Given the description of an element on the screen output the (x, y) to click on. 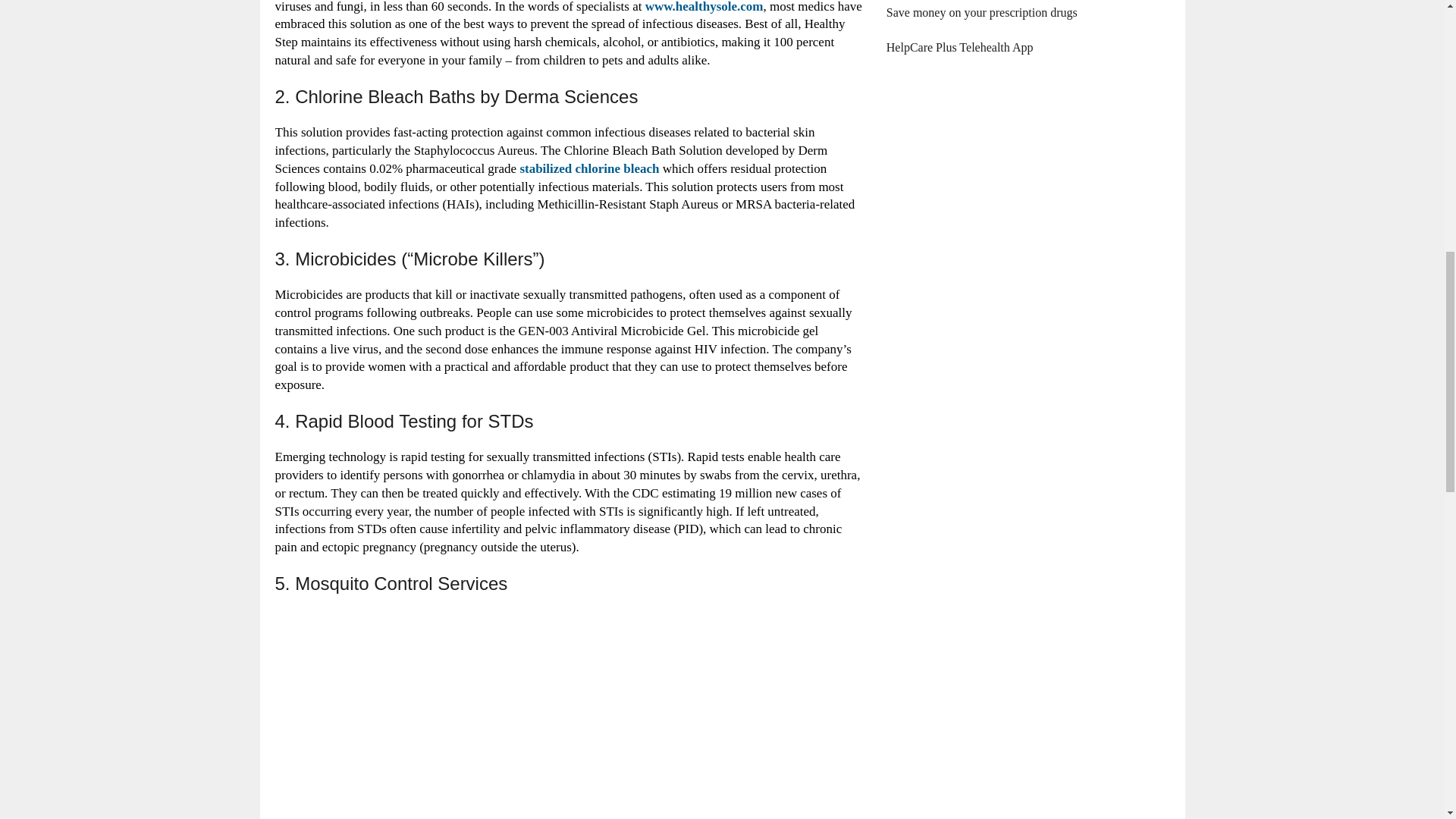
stabilized chlorine bleach (589, 168)
Save money on your prescription drugs (981, 11)
HelpCare Plus Telehealth App (959, 47)
www.healthysole.com (703, 6)
